Given the description of an element on the screen output the (x, y) to click on. 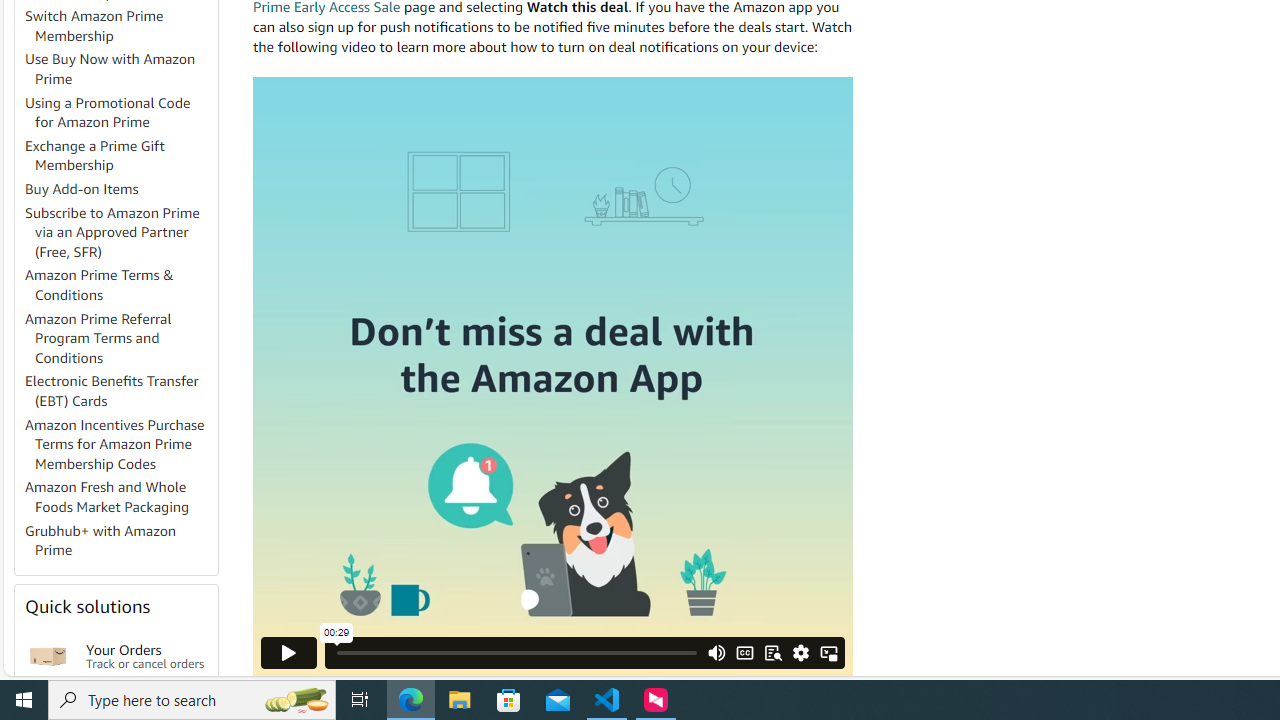
Your Orders (48, 655)
CC/Subtitles (744, 652)
Your Orders (48, 655)
Buy Add-on Items (120, 190)
Picture-in-Picture (828, 652)
Use Buy Now with Amazon Prime (110, 69)
Switch Amazon Prime Membership (94, 25)
Grubhub+ with Amazon Prime (120, 540)
Using a Promotional Code for Amazon Prime (120, 112)
Amazon Fresh and Whole Foods Market Packaging (120, 497)
Electronic Benefits Transfer (EBT) Cards (120, 391)
Amazon Prime Referral Program Terms and Conditions (98, 337)
Volume (use up/down arrow keys to change) (717, 580)
Using a Promotional Code for Amazon Prime (107, 111)
